Given the description of an element on the screen output the (x, y) to click on. 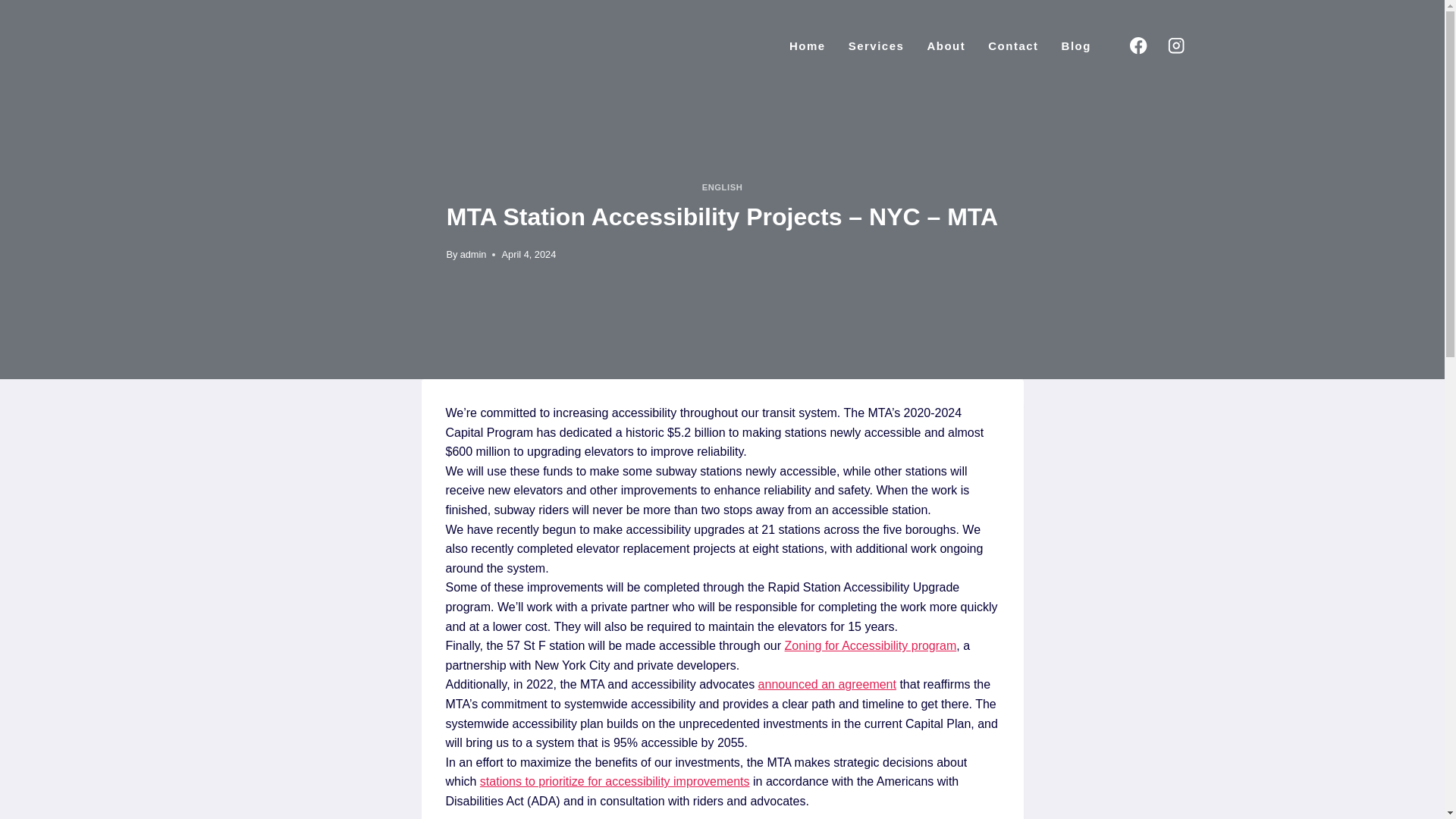
admin (473, 254)
Contact (1012, 46)
Home (807, 46)
About (945, 46)
Zoning for Accessibility program (870, 645)
Blog (1075, 46)
Services (876, 46)
announced an agreement (827, 684)
stations to prioritize for accessibility improvements (614, 780)
ENGLISH (721, 186)
